Given the description of an element on the screen output the (x, y) to click on. 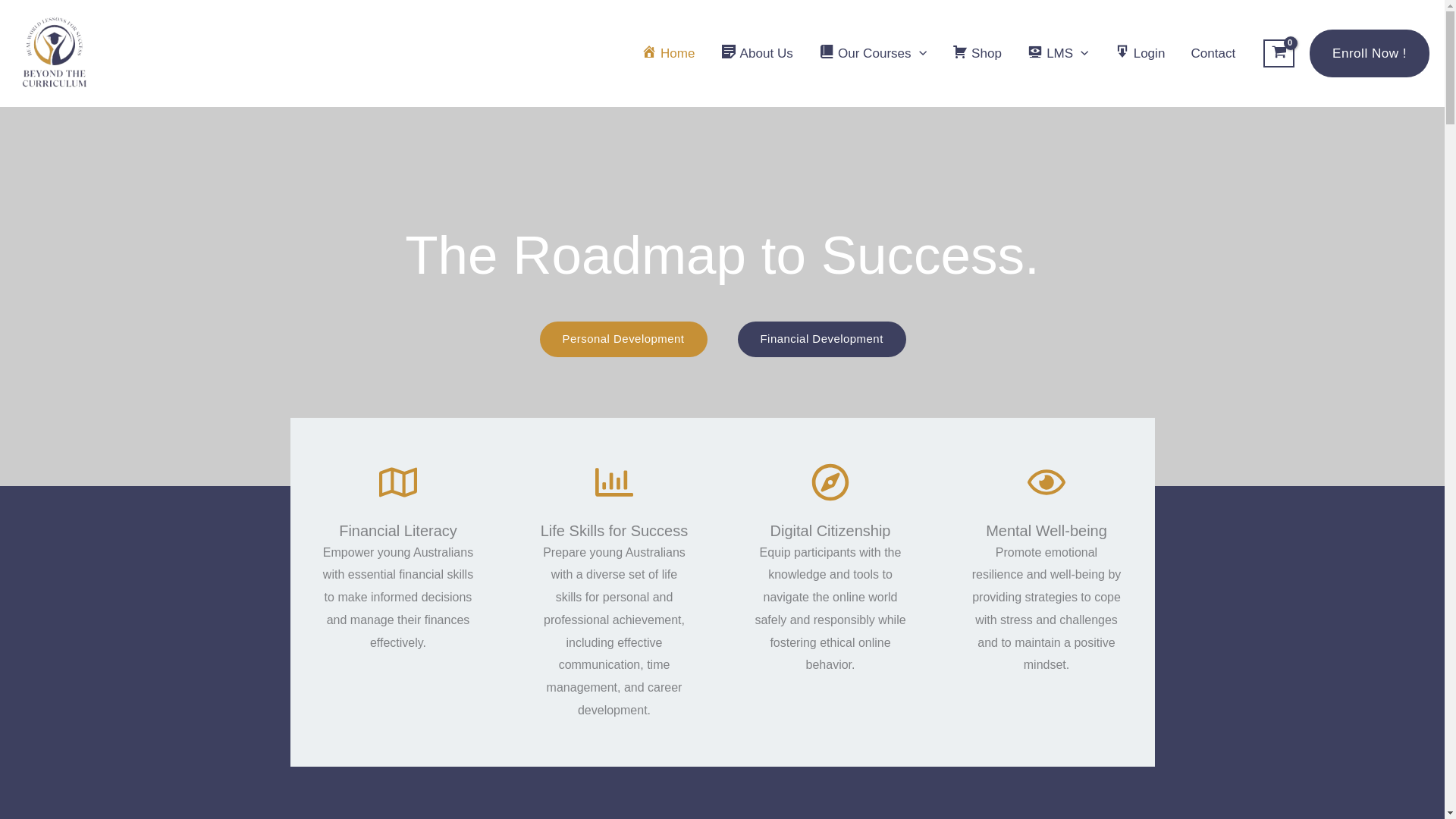
Our Courses (872, 53)
Enroll Now ! (1368, 53)
LMS (1058, 53)
Financial Development (820, 339)
Personal Development (623, 339)
About Us (756, 53)
Contact (1212, 53)
Home (667, 53)
Login (1138, 53)
Shop (976, 53)
